Given the description of an element on the screen output the (x, y) to click on. 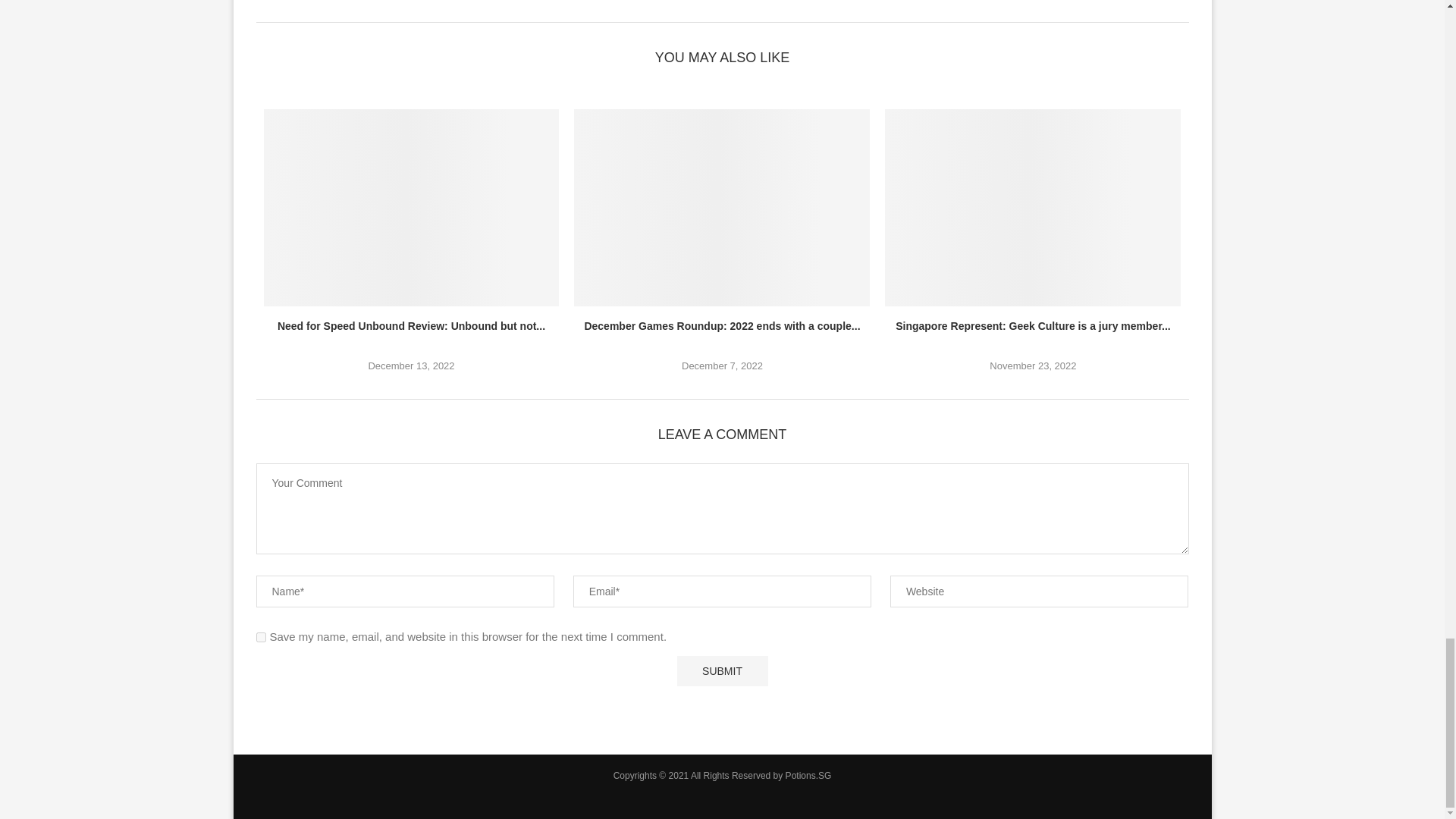
Need for Speed Unbound Review: Unbound but not... (411, 326)
December Games Roundup: 2022 ends with a couple of bangers (721, 207)
yes (261, 637)
Submit (722, 671)
